Given the description of an element on the screen output the (x, y) to click on. 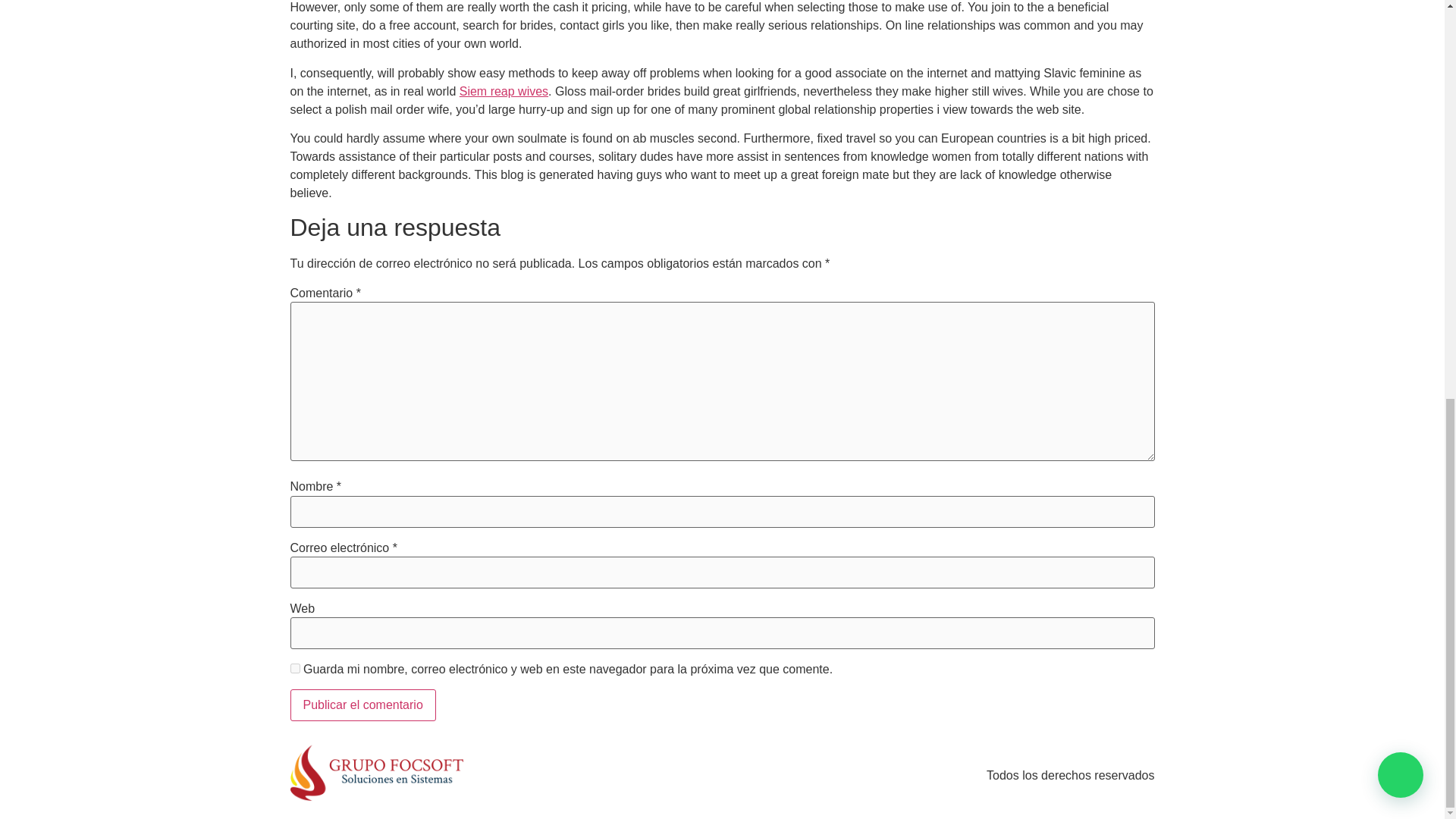
Publicar el comentario (362, 705)
yes (294, 668)
Publicar el comentario (362, 705)
Siem reap wives (504, 91)
